Given the description of an element on the screen output the (x, y) to click on. 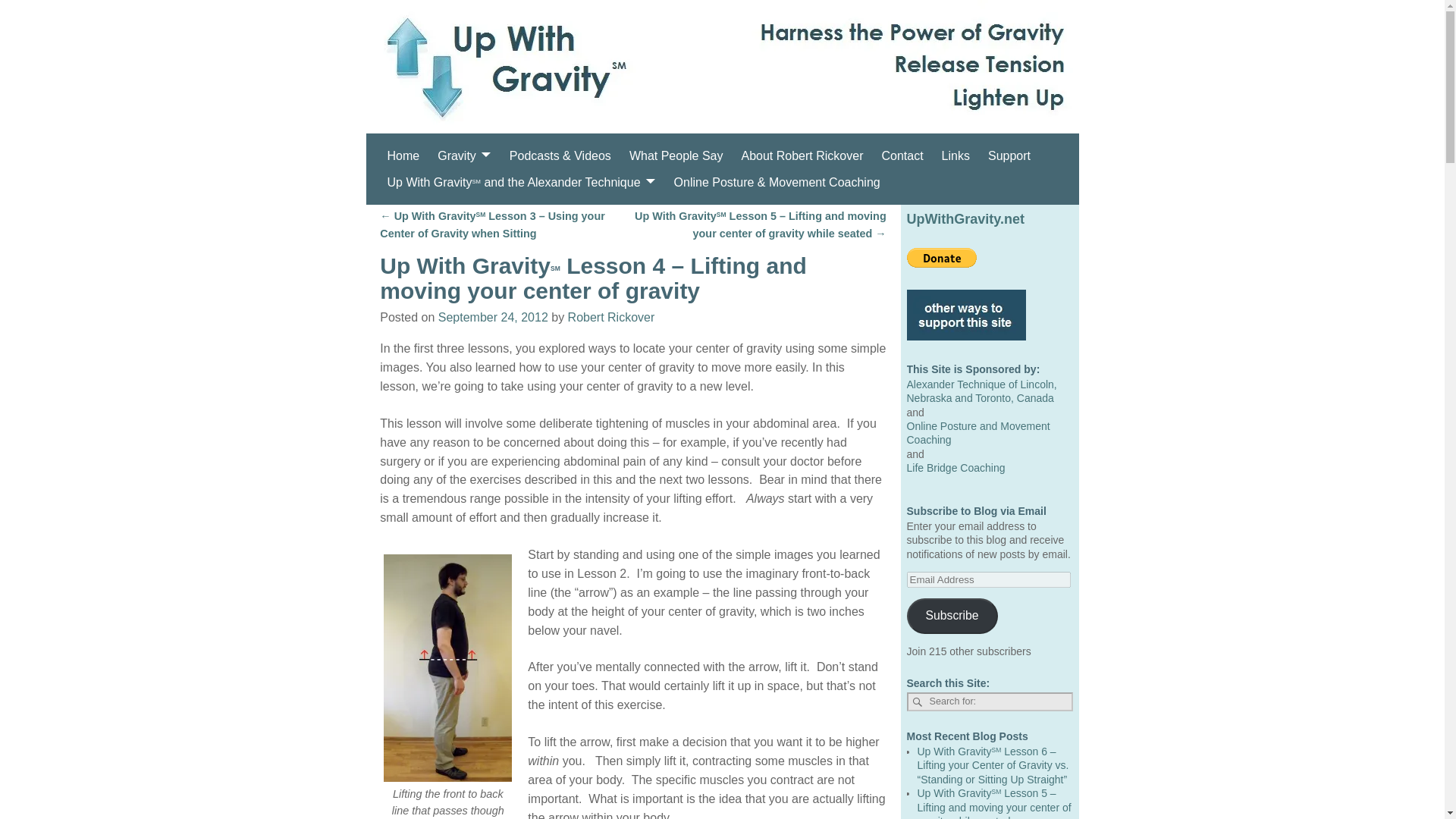
Links (955, 155)
11:48 am (493, 317)
Gravity (464, 155)
About Robert Rickover (802, 155)
Contact (901, 155)
Support (1008, 155)
Robert Rickover (611, 317)
September 24, 2012 (493, 317)
What People Say (676, 155)
View all posts by Robert Rickover (611, 317)
